Given the description of an element on the screen output the (x, y) to click on. 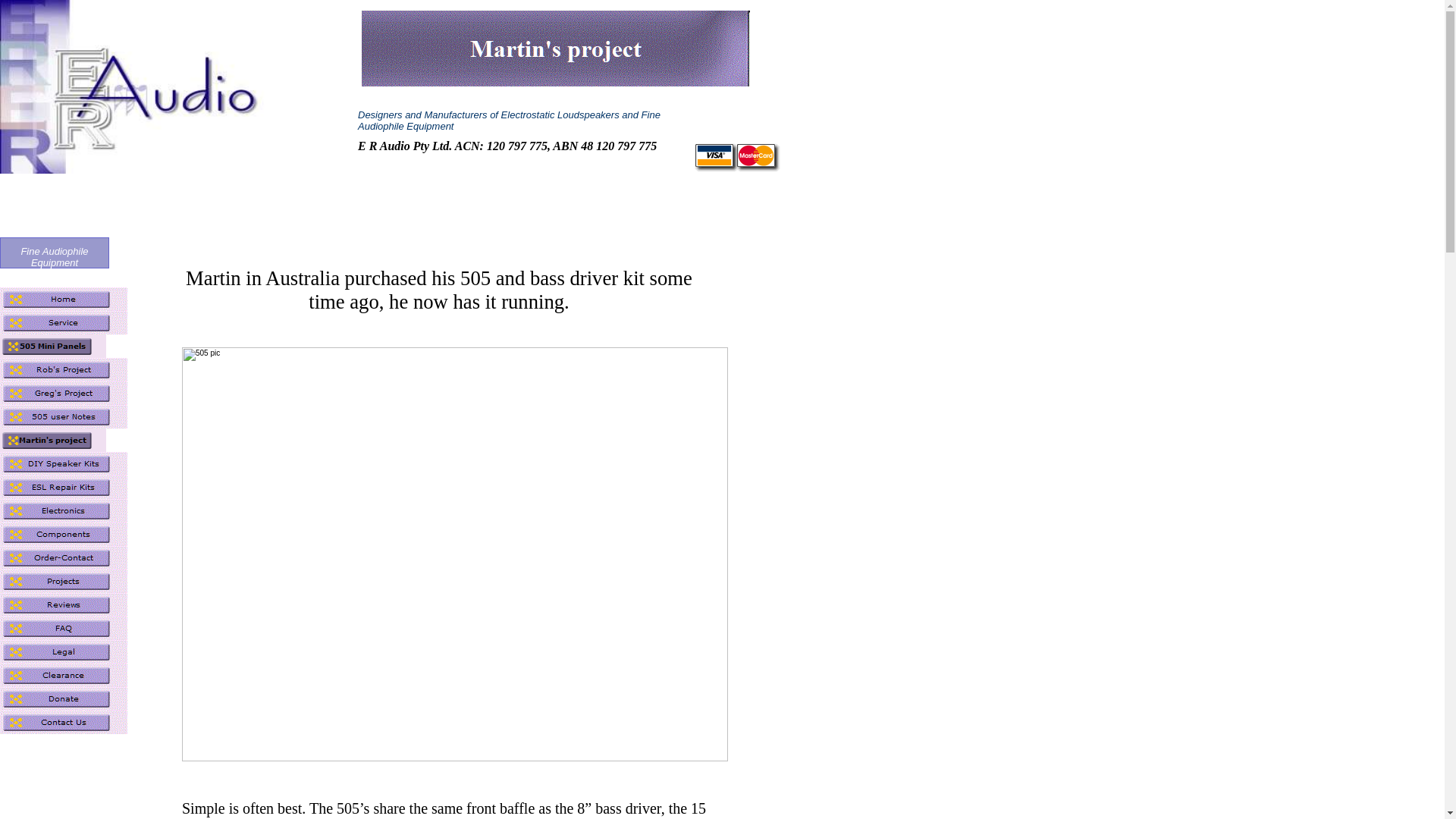
Martin's project Element type: hover (555, 48)
Electronics Element type: hover (63, 510)
505 Mini Panels Element type: hover (53, 345)
505 user Notes Element type: hover (63, 416)
Service Element type: hover (63, 322)
505 pic Element type: hover (455, 554)
ESL Repair Kits Element type: hover (63, 486)
Order Element type: hover (737, 157)
Order-Contact Element type: hover (63, 557)
Projects Element type: hover (63, 581)
Rob's Project Element type: hover (63, 369)
Greg's Project Element type: hover (63, 392)
Reviews Element type: hover (63, 604)
DIY Speaker Kits Element type: hover (63, 463)
E R Audio Home Element type: hover (162, 86)
Home Element type: hover (63, 298)
Components Element type: hover (63, 534)
Martin's project Element type: hover (53, 439)
Contact Us Element type: hover (63, 722)
Legal Element type: hover (63, 651)
Clearance Element type: hover (63, 675)
Donate Element type: hover (63, 698)
FAQ Element type: hover (63, 628)
